Given the description of an element on the screen output the (x, y) to click on. 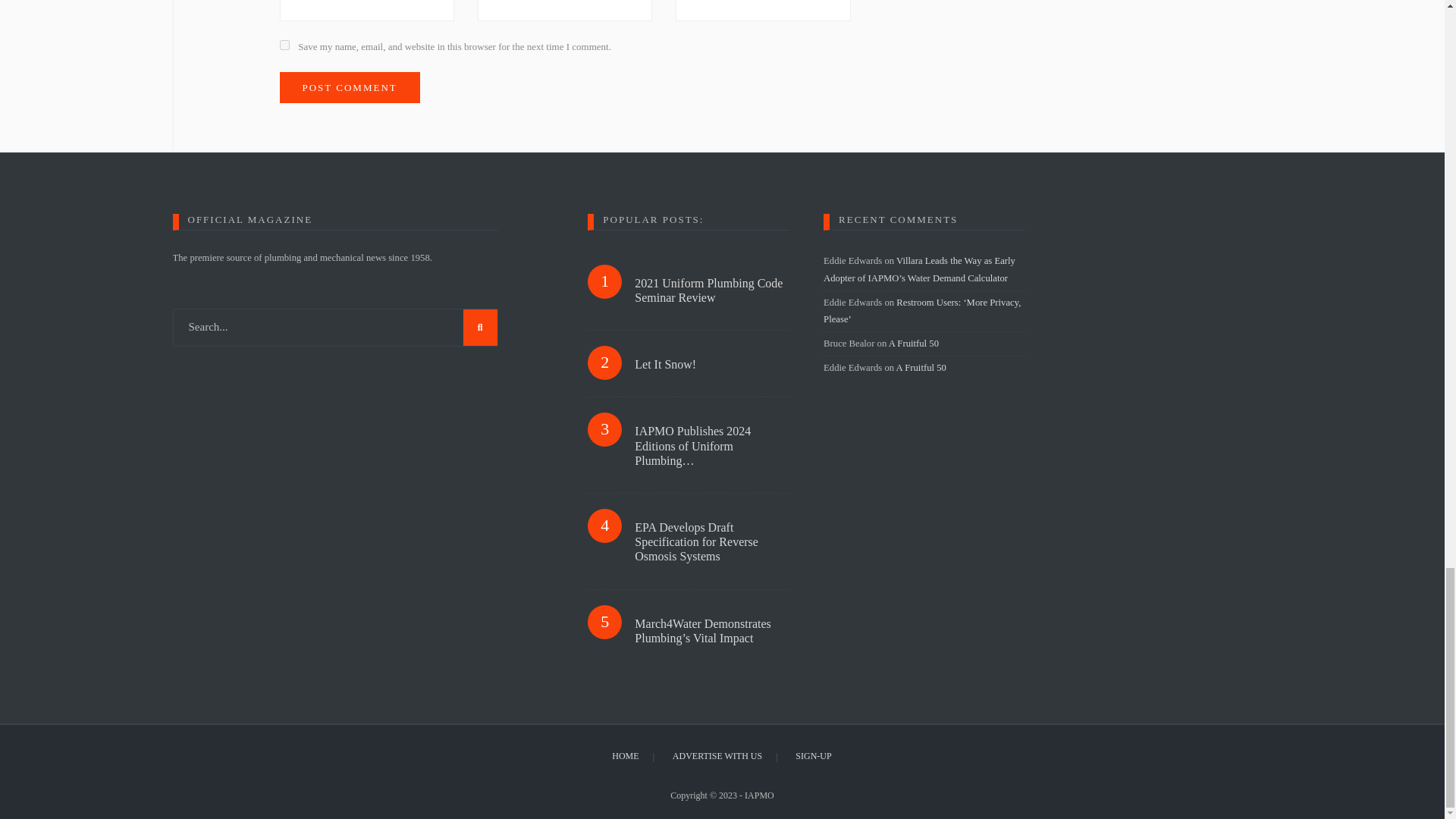
Post Comment (349, 88)
Post Comment (349, 88)
Search... (335, 327)
yes (283, 44)
EPA Develops Draft Specification for Reverse Osmosis Systems (711, 542)
2021 Uniform Plumbing Code Seminar Review (711, 290)
Let It Snow!  (711, 364)
